Given the description of an element on the screen output the (x, y) to click on. 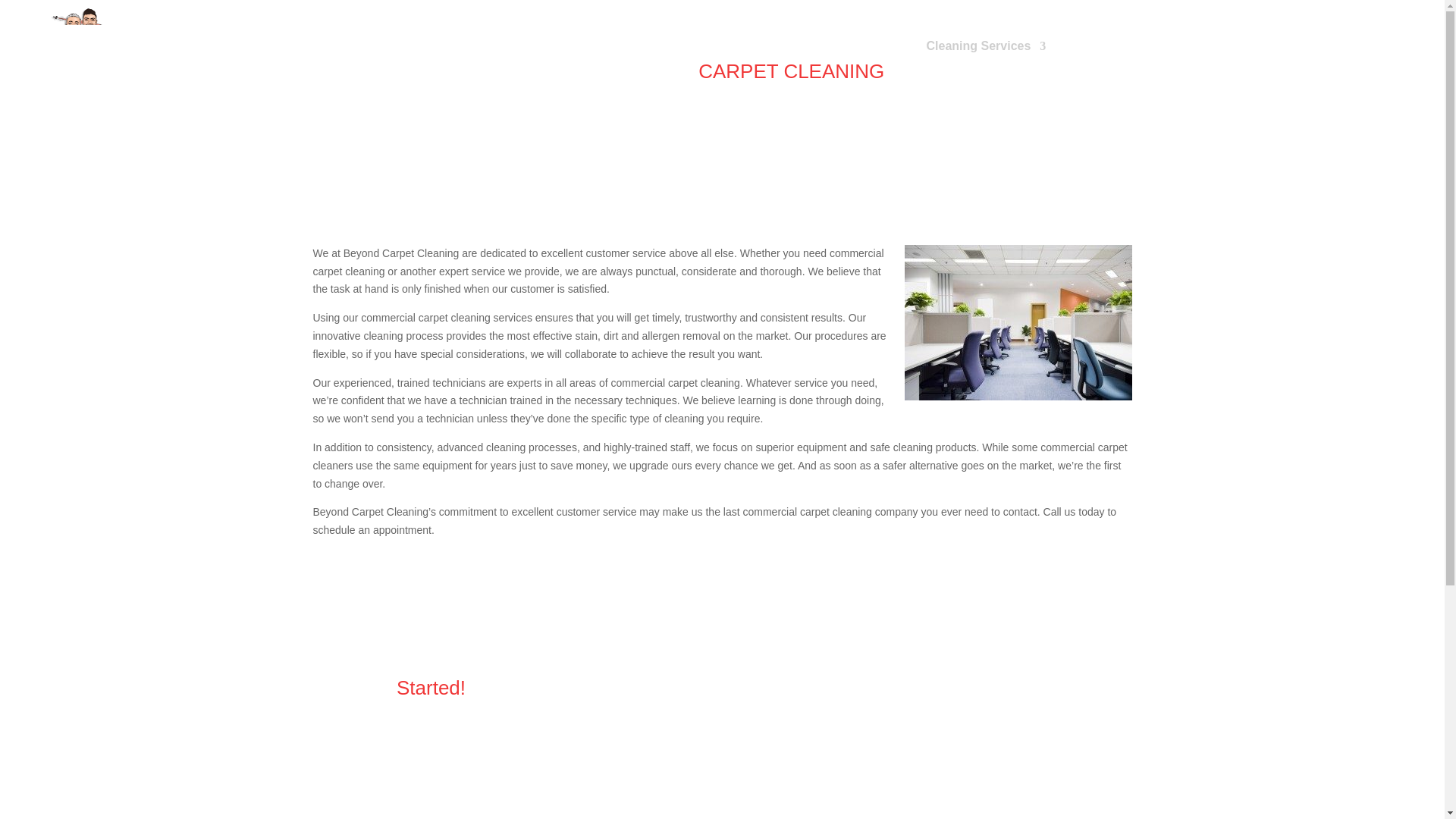
Why Choose Us? (849, 60)
Cleaning Services (986, 60)
Service Area (1101, 60)
630-779-4295 (1370, 60)
Request Service (1252, 60)
Request Service Now! (404, 767)
